Given the description of an element on the screen output the (x, y) to click on. 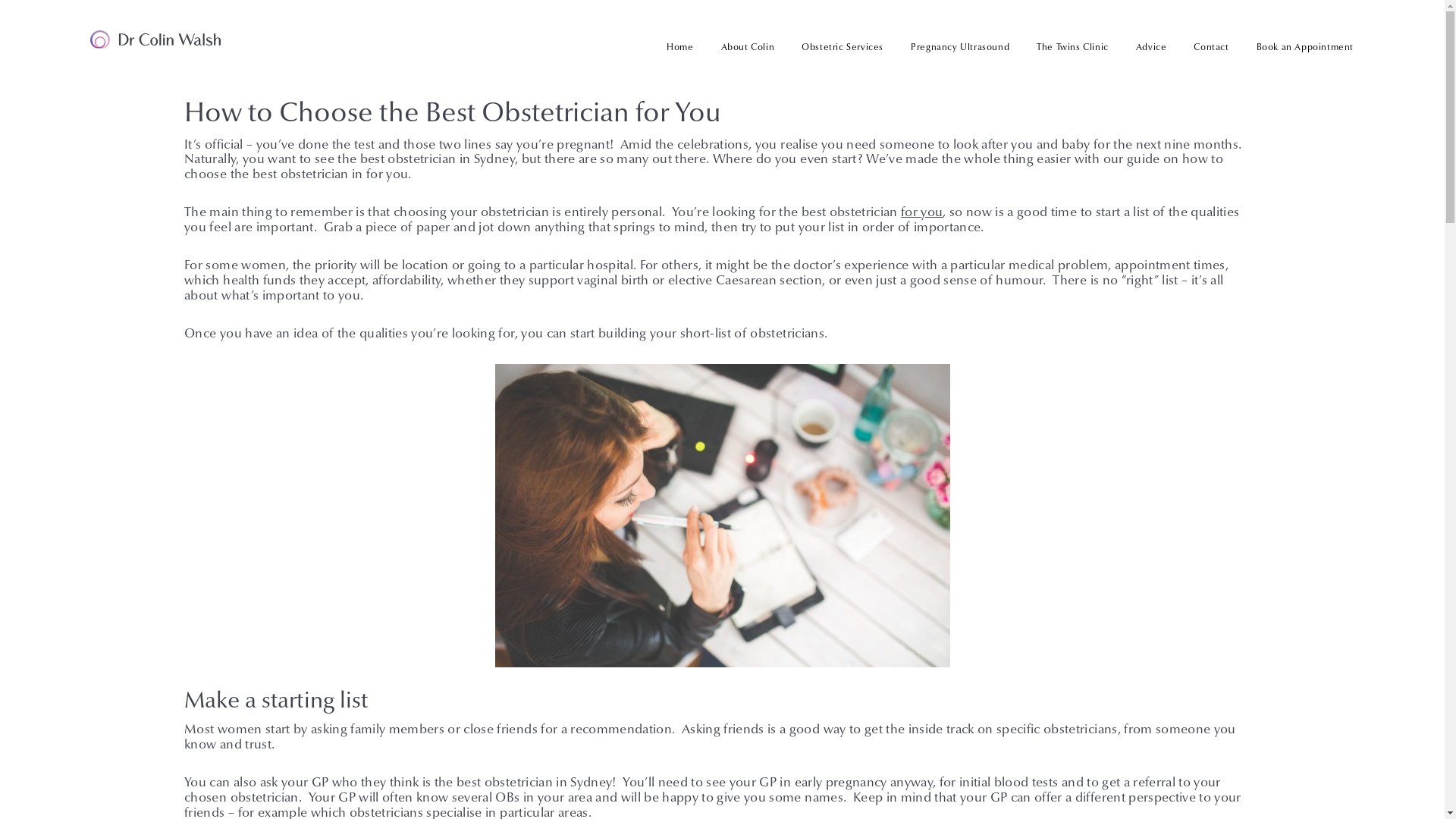
Advice Element type: text (1151, 47)
Contact Element type: text (1210, 47)
Book an Appointment Element type: text (1297, 47)
Dr Colin Walsh Element type: hover (155, 38)
About Colin Element type: text (747, 47)
Home Element type: text (679, 47)
Pregnancy Ultrasound Element type: text (959, 47)
The Twins Clinic Element type: text (1072, 47)
Obstetric Services Element type: text (842, 47)
